Given the description of an element on the screen output the (x, y) to click on. 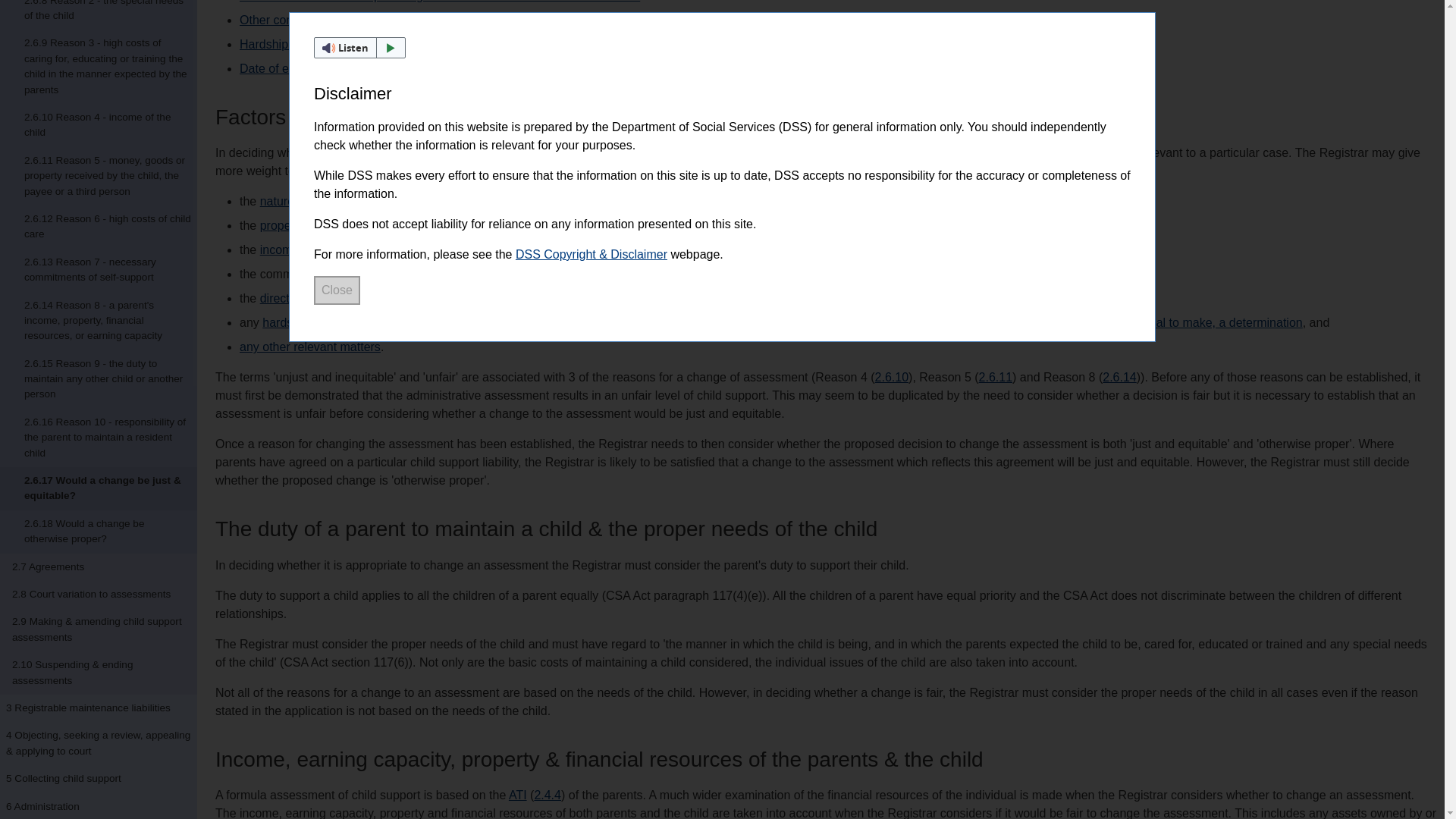
2.6.8 Reason 2 - the special needs of the child (98, 15)
